Given the description of an element on the screen output the (x, y) to click on. 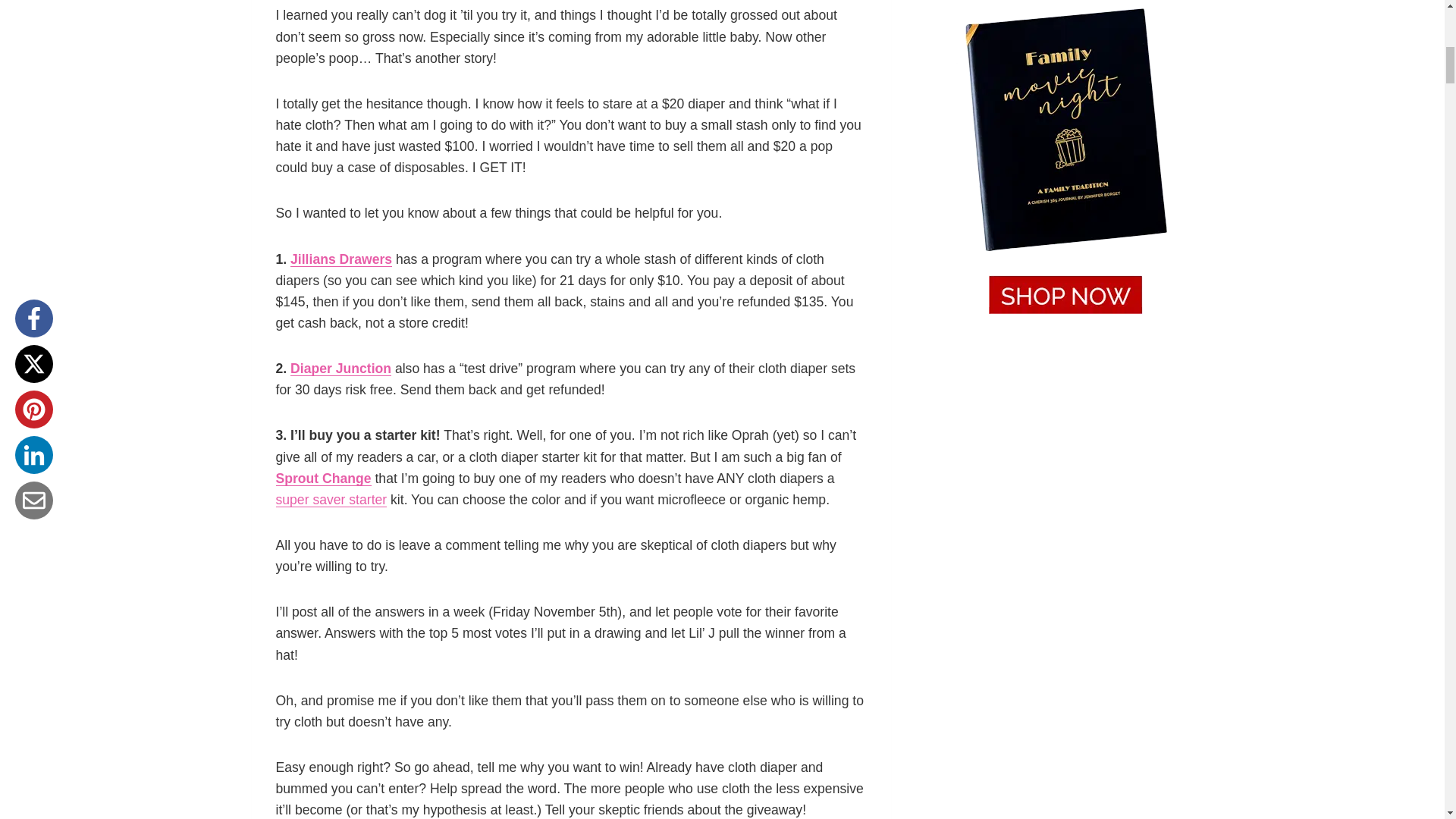
Diaper Junction (340, 368)
super saver starter (331, 499)
Jillians Drawers (340, 258)
Sprout Change (323, 478)
